Given the description of an element on the screen output the (x, y) to click on. 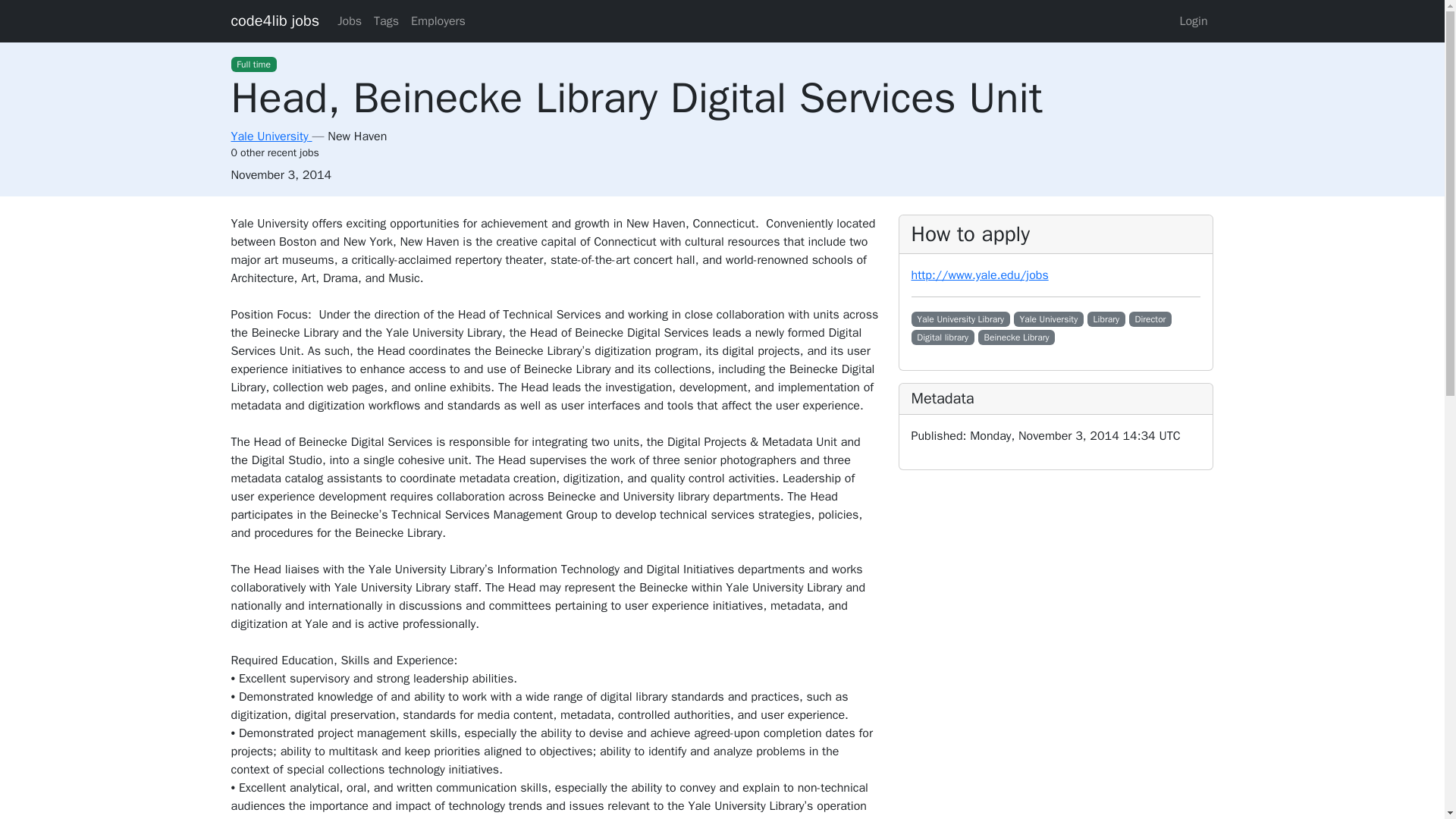
Yale University Library (960, 319)
Yale University (270, 136)
Login (1192, 20)
code4lib jobs (274, 20)
Yale University (1048, 319)
Beinecke Library (1016, 337)
Director (1150, 319)
Library (1106, 319)
Full time (253, 64)
Digital library (942, 337)
Jobs (349, 20)
Employers (437, 20)
Tags (386, 20)
